Given the description of an element on the screen output the (x, y) to click on. 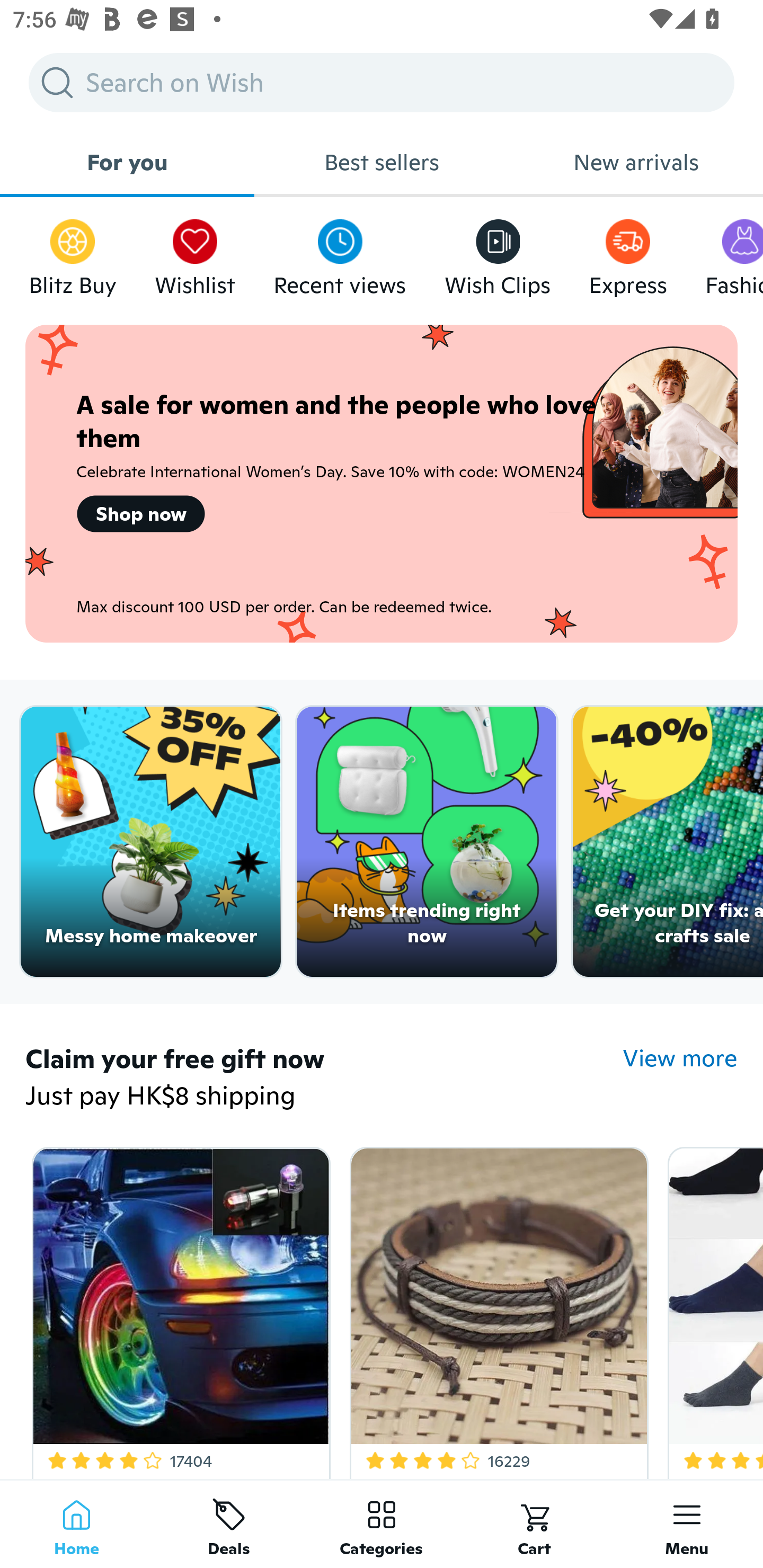
Search on Wish (381, 82)
For you (127, 161)
Best sellers (381, 161)
New arrivals (635, 161)
Blitz Buy (72, 252)
Wishlist (194, 252)
Recent views (339, 252)
Wish Clips (497, 252)
Express (627, 252)
Fashion (734, 252)
Messy home makeover (150, 841)
Items trending right now (426, 841)
Get your DIY fix: arts & crafts sale (668, 841)
Claim your free gift now
Just pay HK$8 shipping (323, 1078)
View more (679, 1058)
3.8 Star Rating 17404 Free (177, 1308)
3.8 Star Rating 16229 Free (495, 1308)
Home (76, 1523)
Deals (228, 1523)
Categories (381, 1523)
Cart (533, 1523)
Menu (686, 1523)
